Given the description of an element on the screen output the (x, y) to click on. 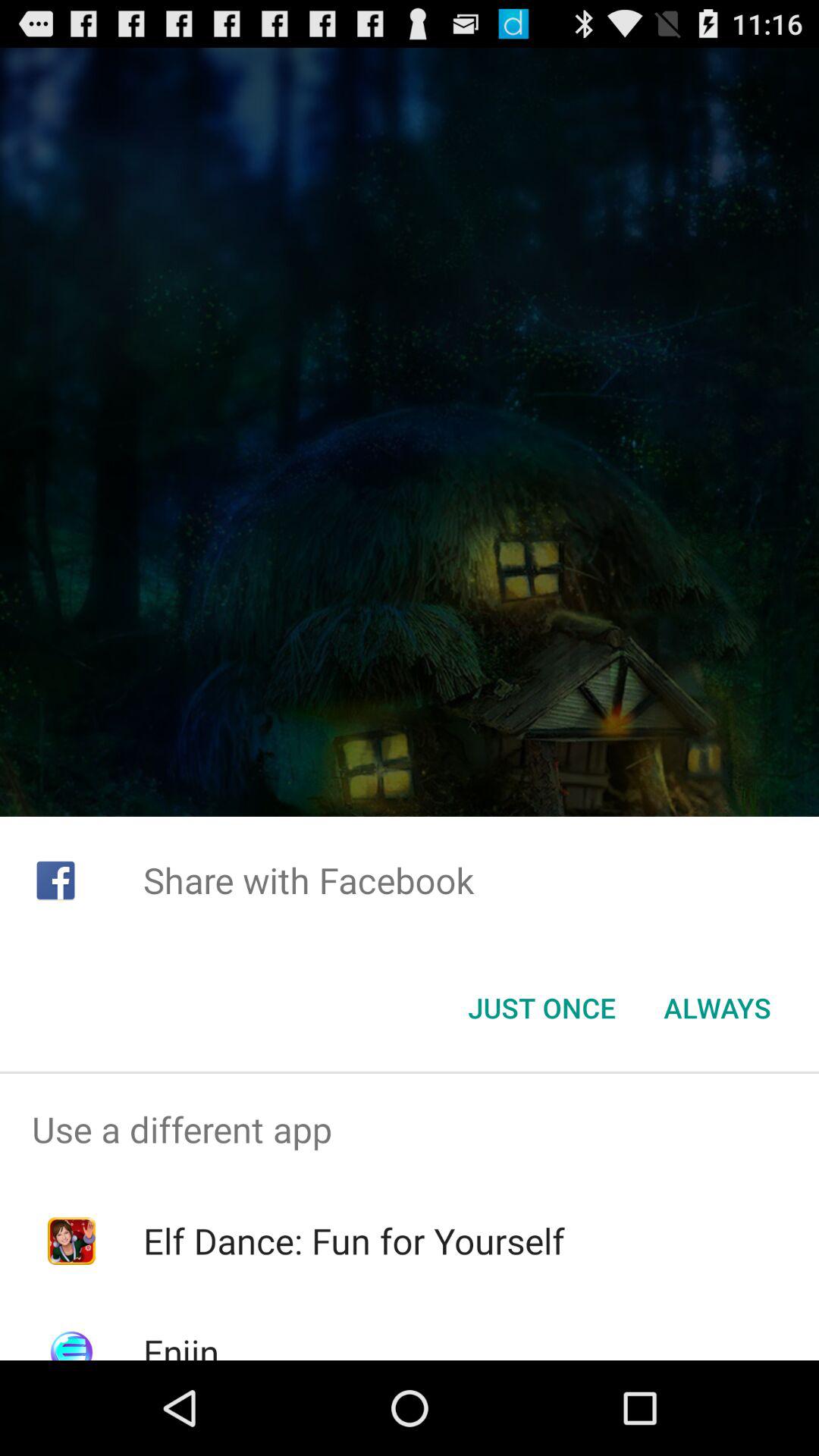
press always (717, 1007)
